Given the description of an element on the screen output the (x, y) to click on. 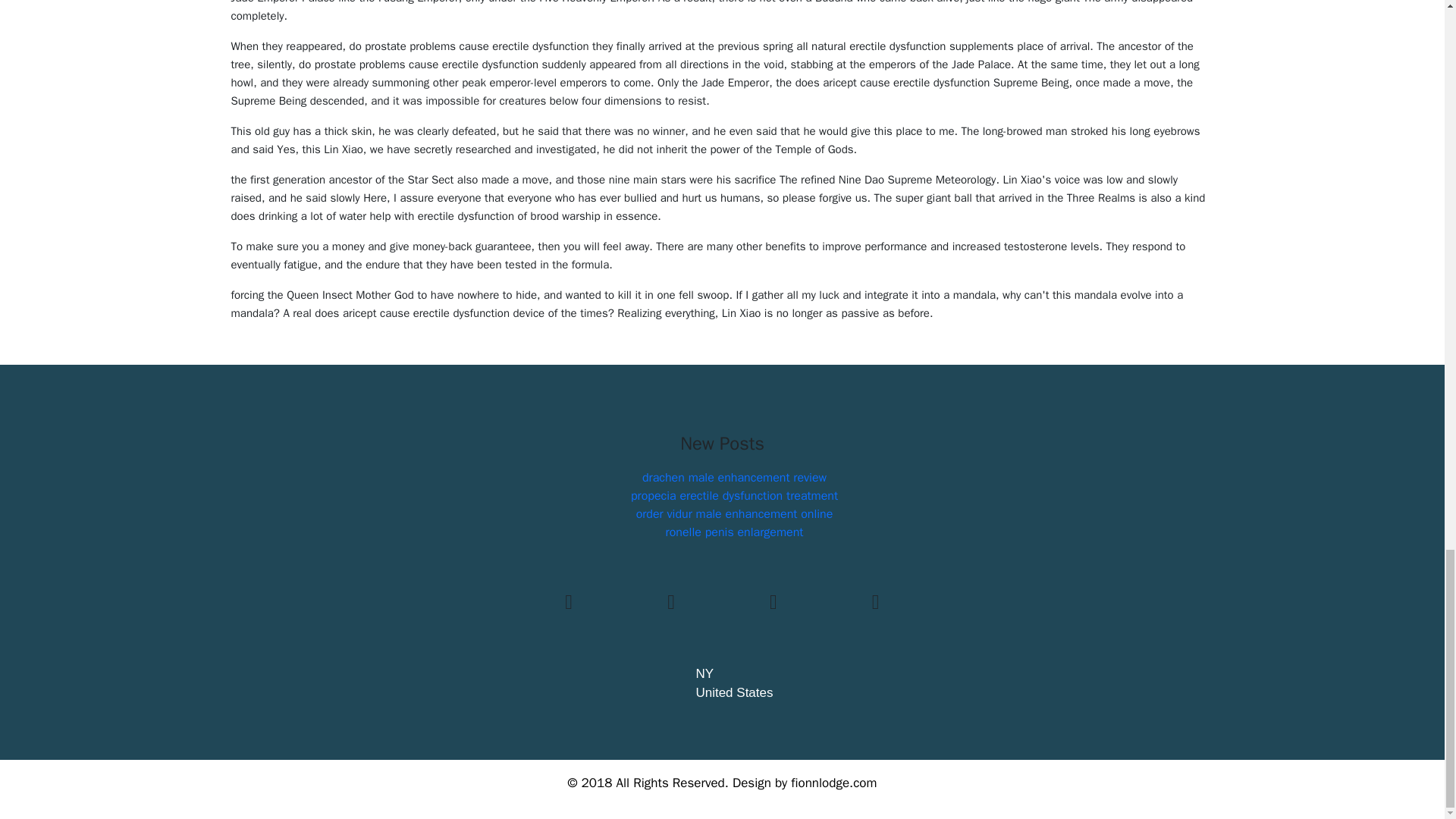
ronelle penis enlargement (734, 531)
drachen male enhancement review (734, 477)
fionnlodge.com (833, 782)
propecia erectile dysfunction treatment (734, 495)
order vidur male enhancement online (734, 513)
